Given the description of an element on the screen output the (x, y) to click on. 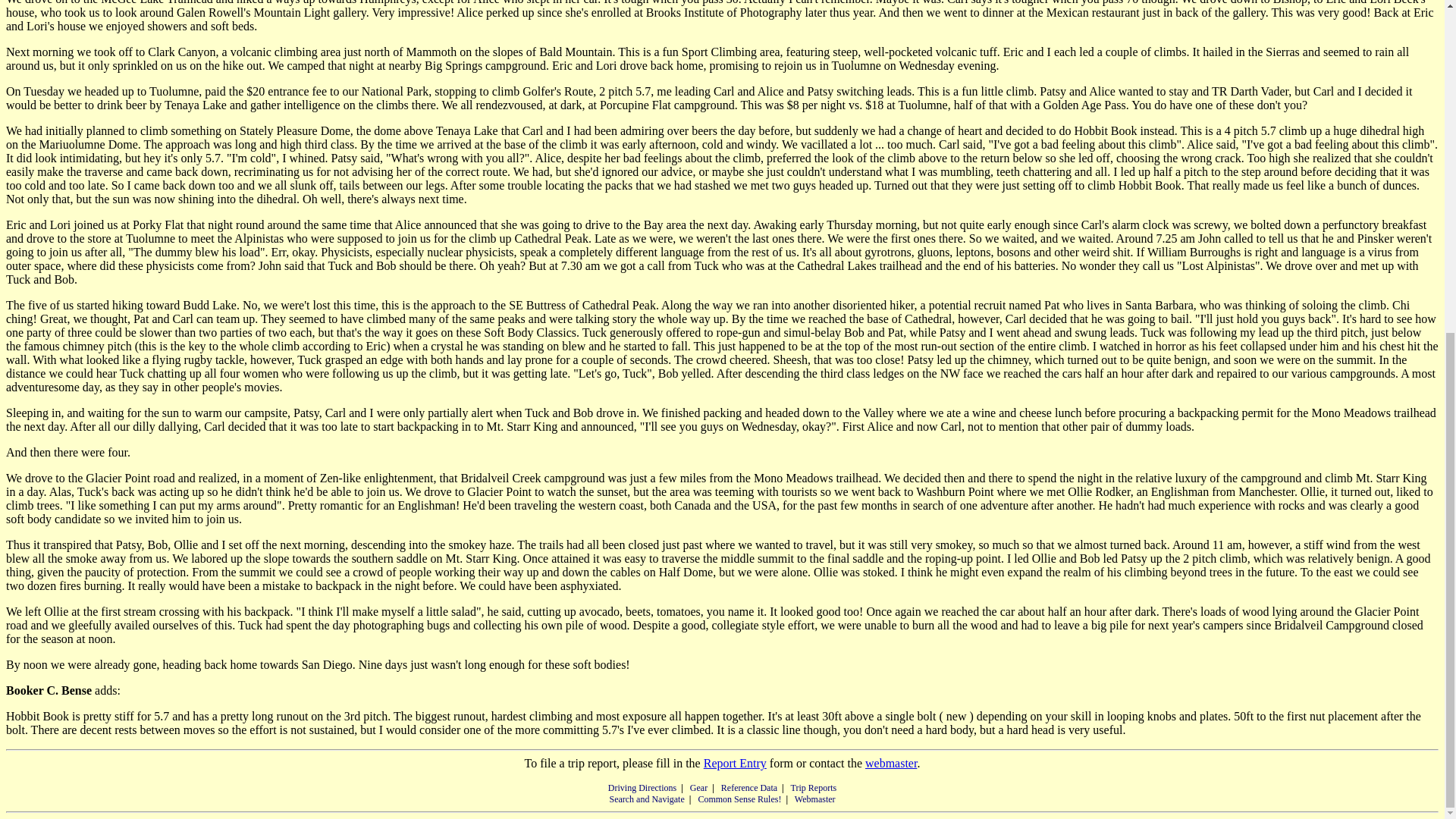
Common Sense Rules! (738, 798)
Reference Data (748, 787)
Gear (698, 787)
Driving Directions (642, 787)
Search and Navigate (646, 798)
Webmaster (814, 798)
webmaster (890, 762)
Trip Reports (813, 787)
Report Entry (735, 762)
